Given the description of an element on the screen output the (x, y) to click on. 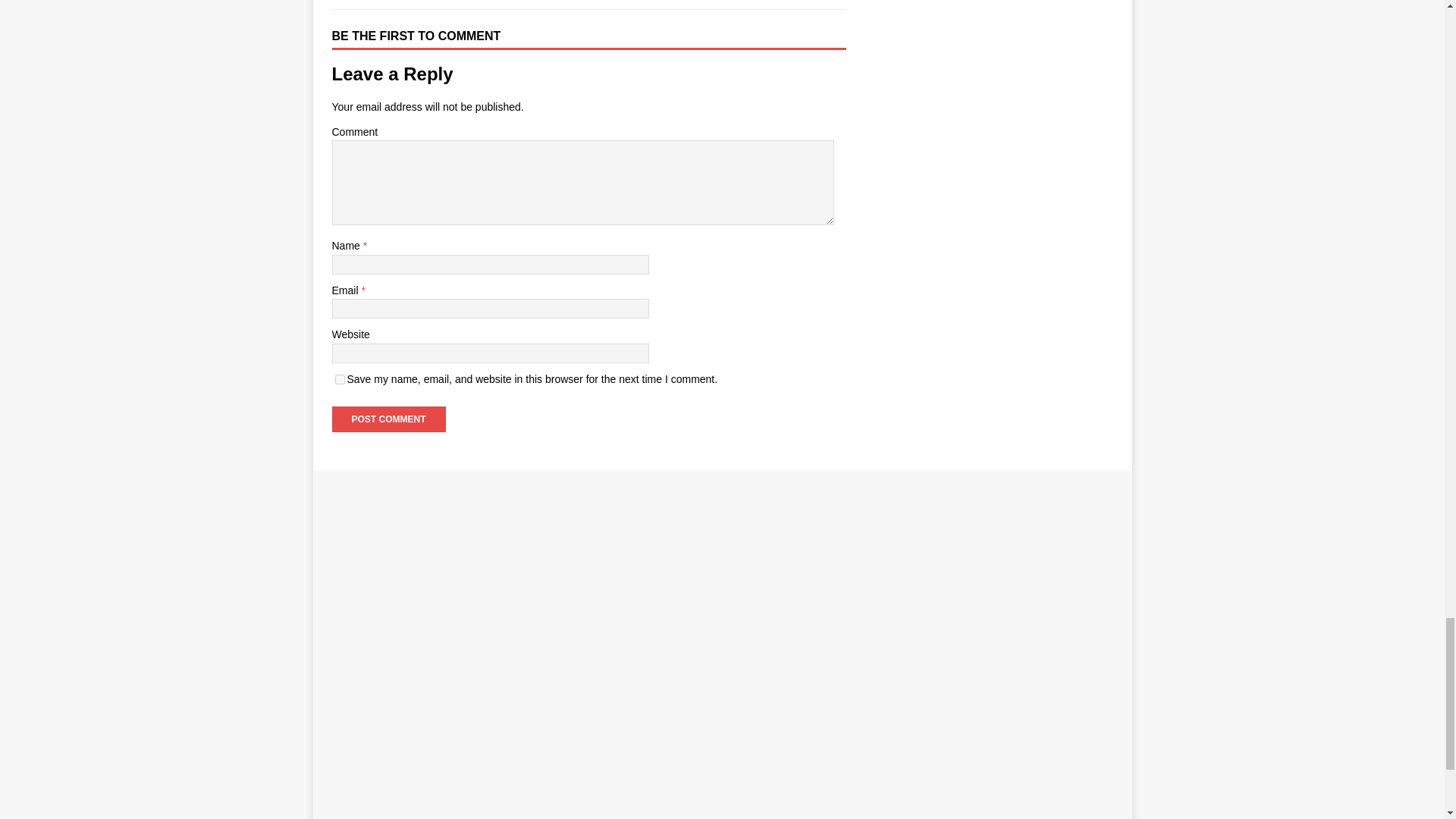
Post Comment (388, 419)
yes (339, 379)
Post Comment (388, 419)
